Given the description of an element on the screen output the (x, y) to click on. 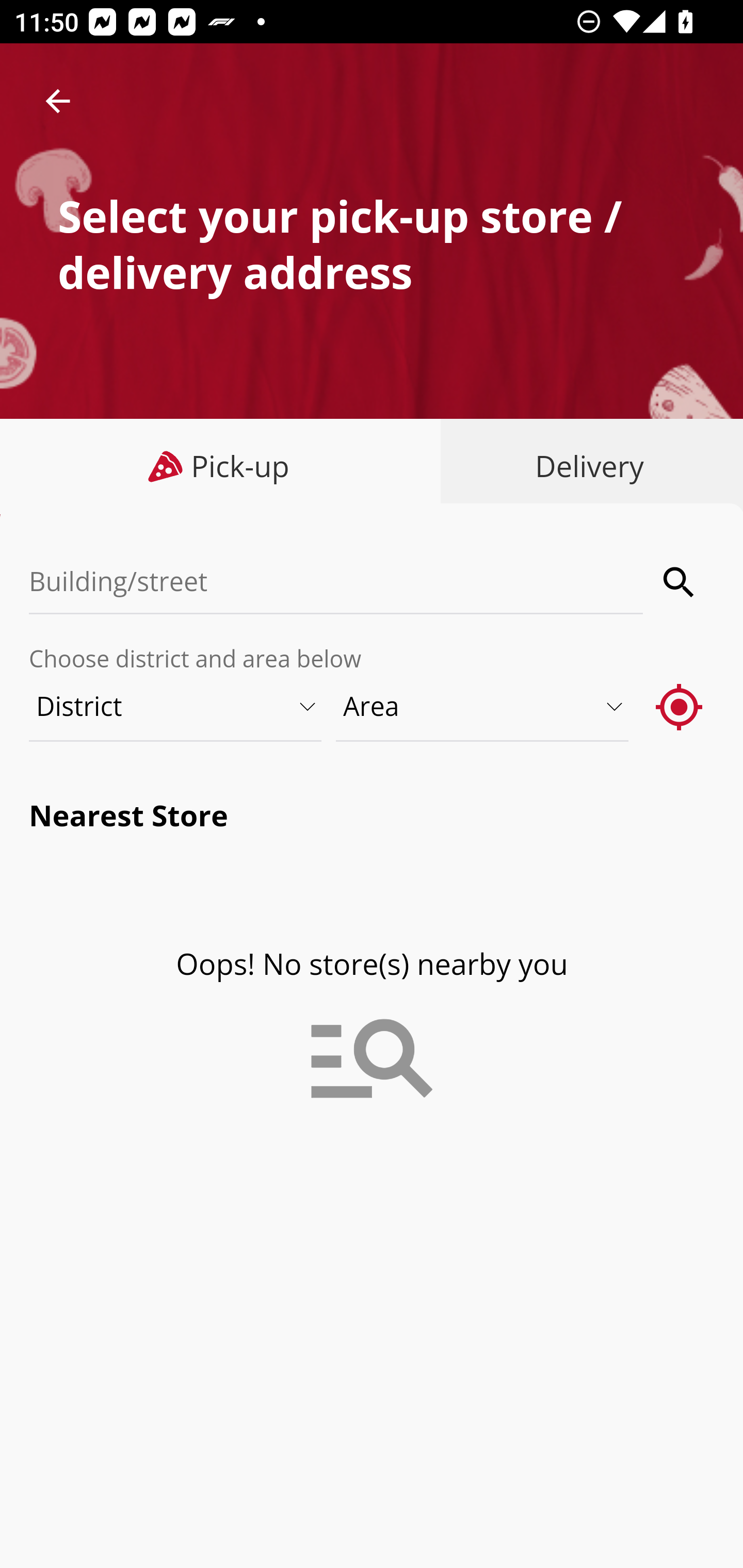
arrow_back (58, 100)
Pick-up (221, 466)
Delivery (585, 466)
search (679, 582)
gps_fixed (679, 706)
District (175, 706)
Area (482, 706)
